Given the description of an element on the screen output the (x, y) to click on. 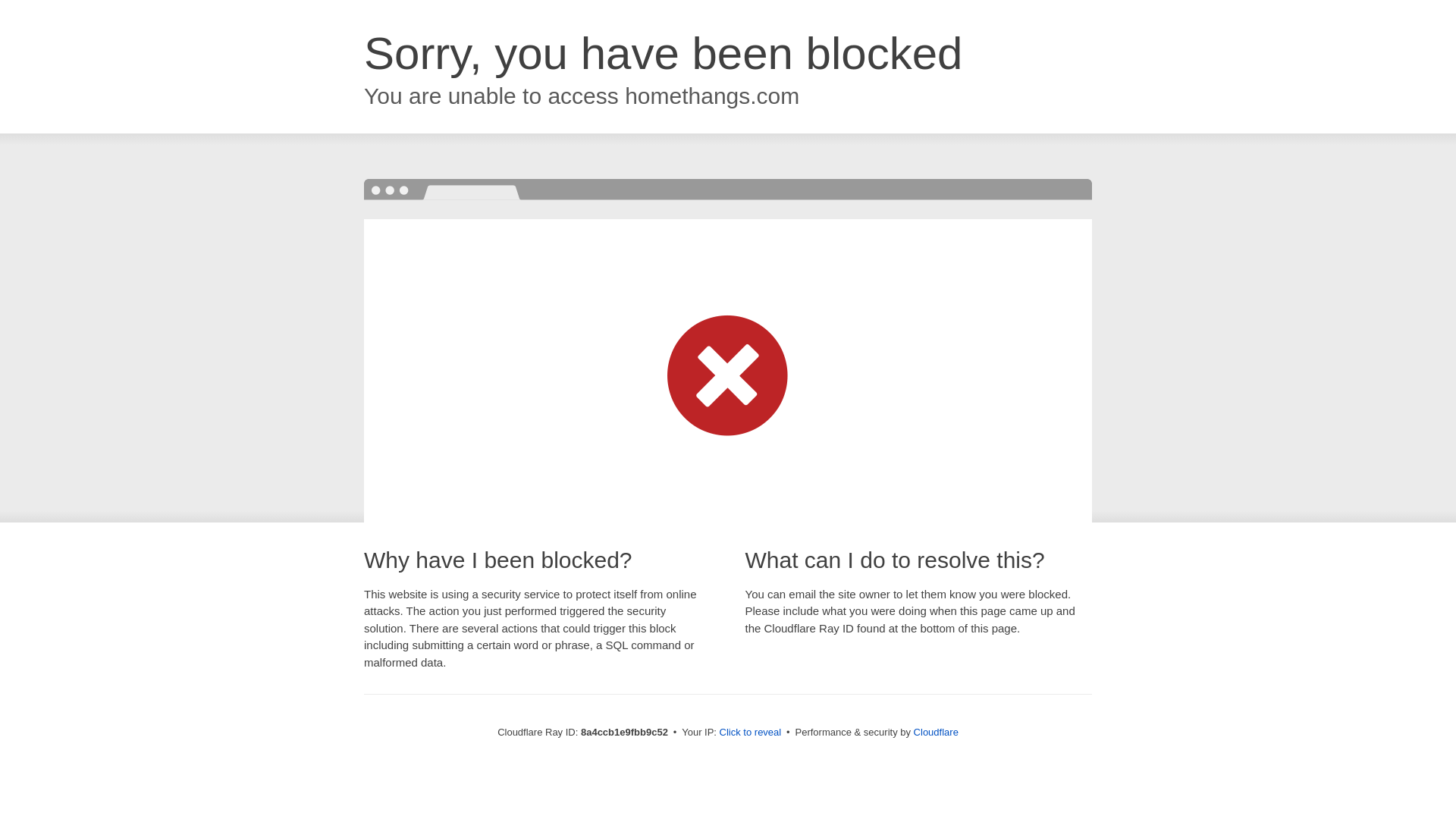
Cloudflare (936, 731)
Click to reveal (750, 732)
